Given the description of an element on the screen output the (x, y) to click on. 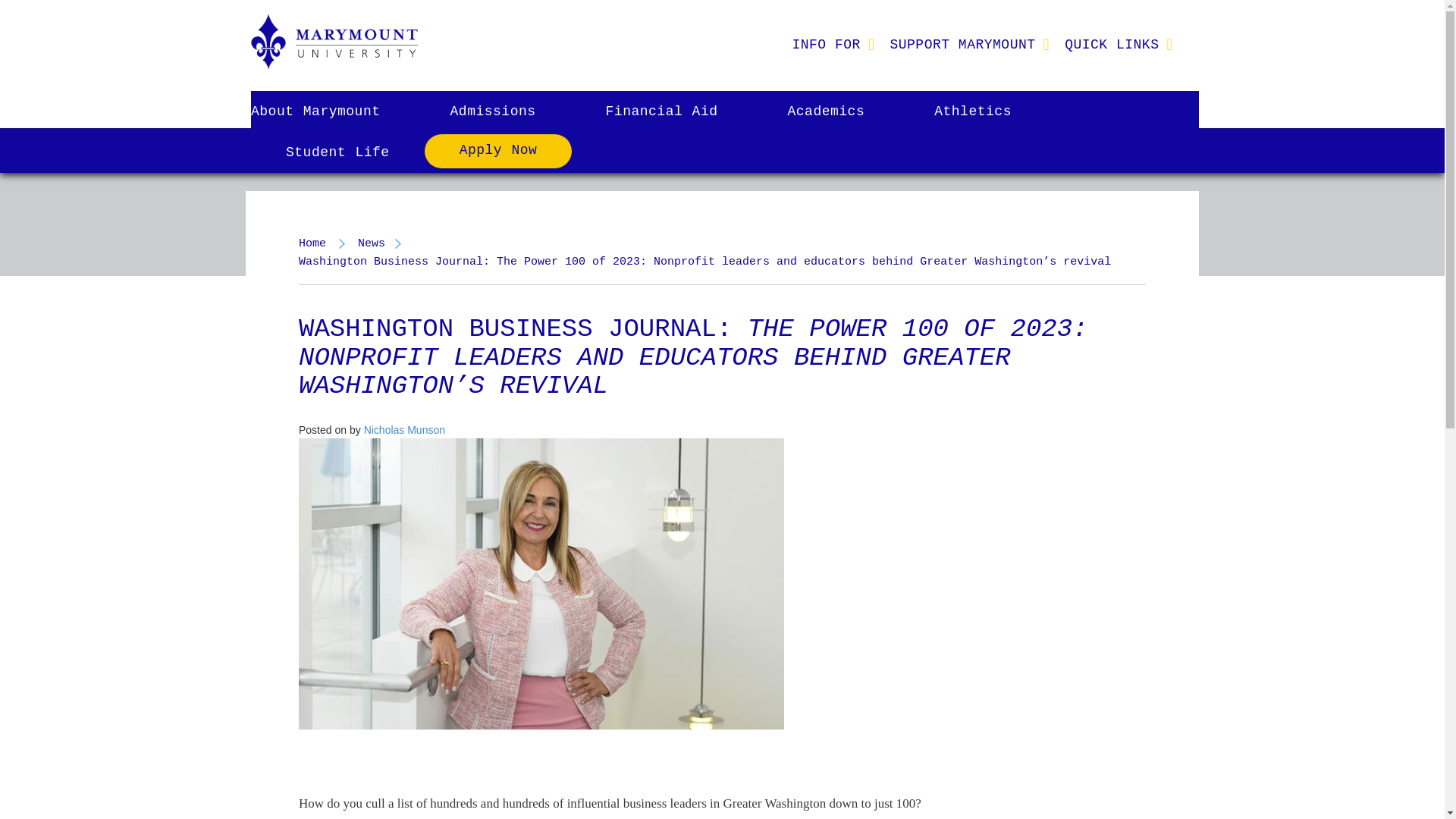
INFO FOR (825, 44)
QUICK LINKS (1111, 44)
About Marymount (332, 110)
SUPPORT MARYMOUNT (962, 44)
